Given the description of an element on the screen output the (x, y) to click on. 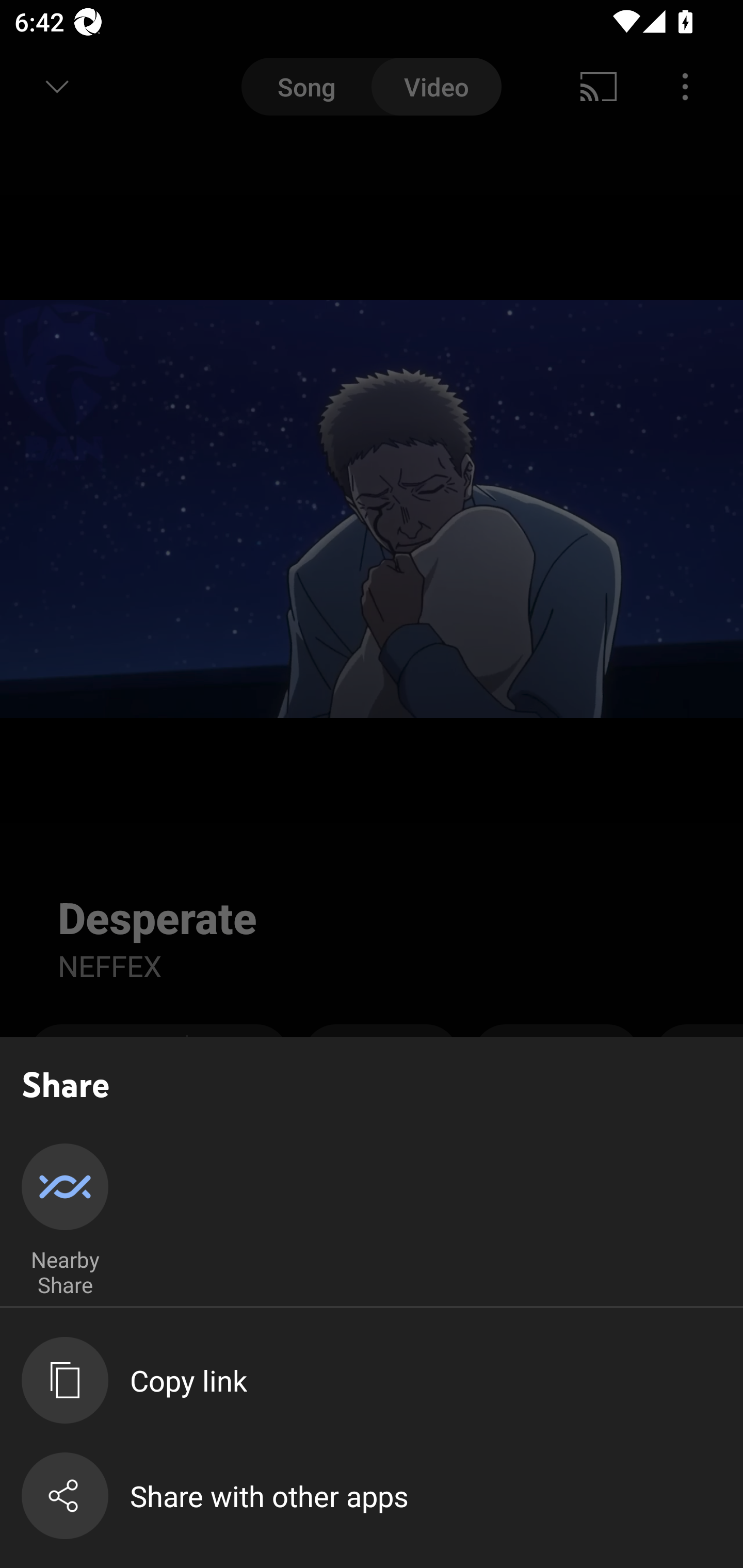
Nearby Share (64, 1221)
Copy link (382, 1380)
Share with other apps (382, 1495)
